Given the description of an element on the screen output the (x, y) to click on. 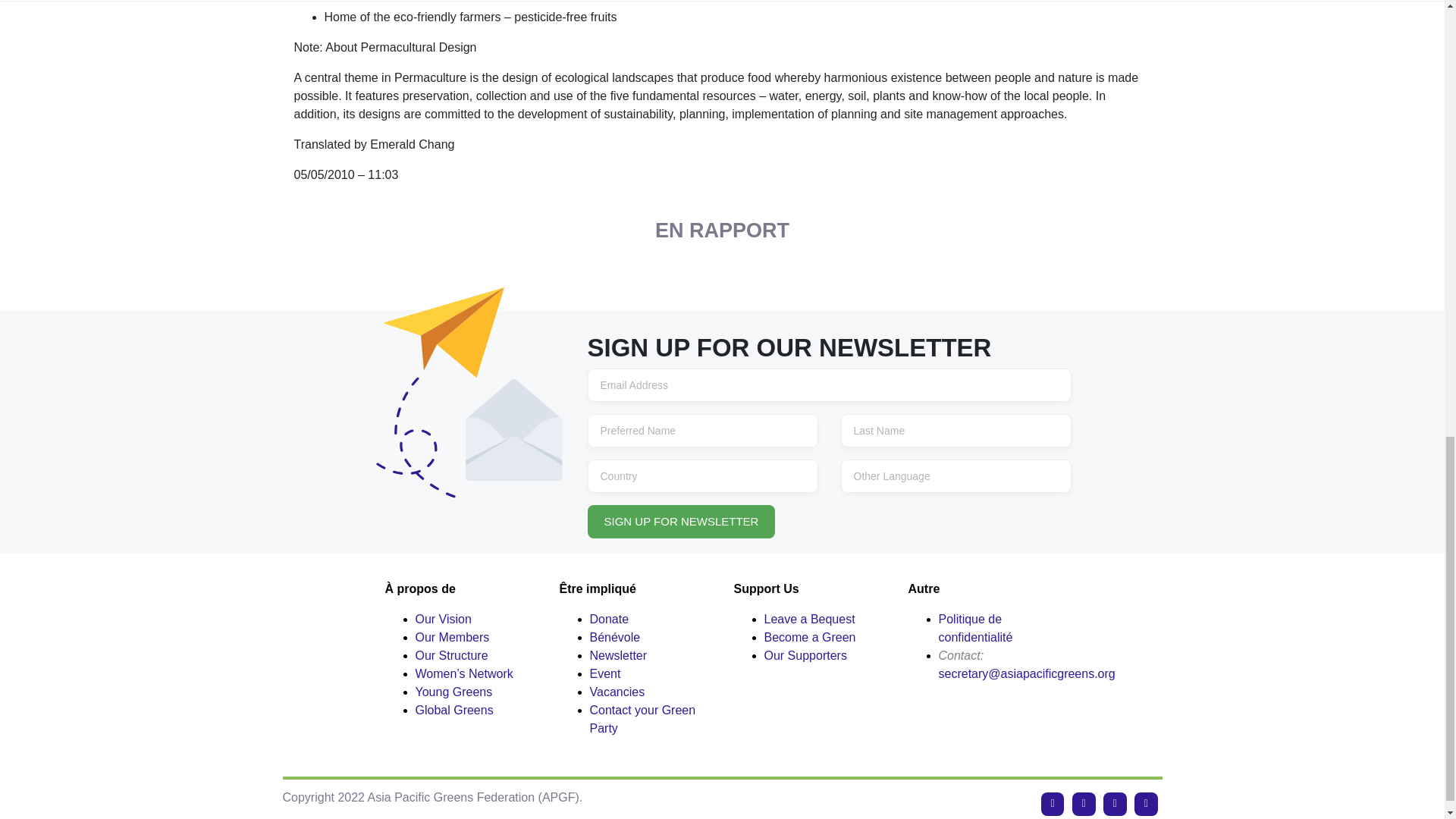
Sign up for NEWSLETTER (680, 521)
